Given the description of an element on the screen output the (x, y) to click on. 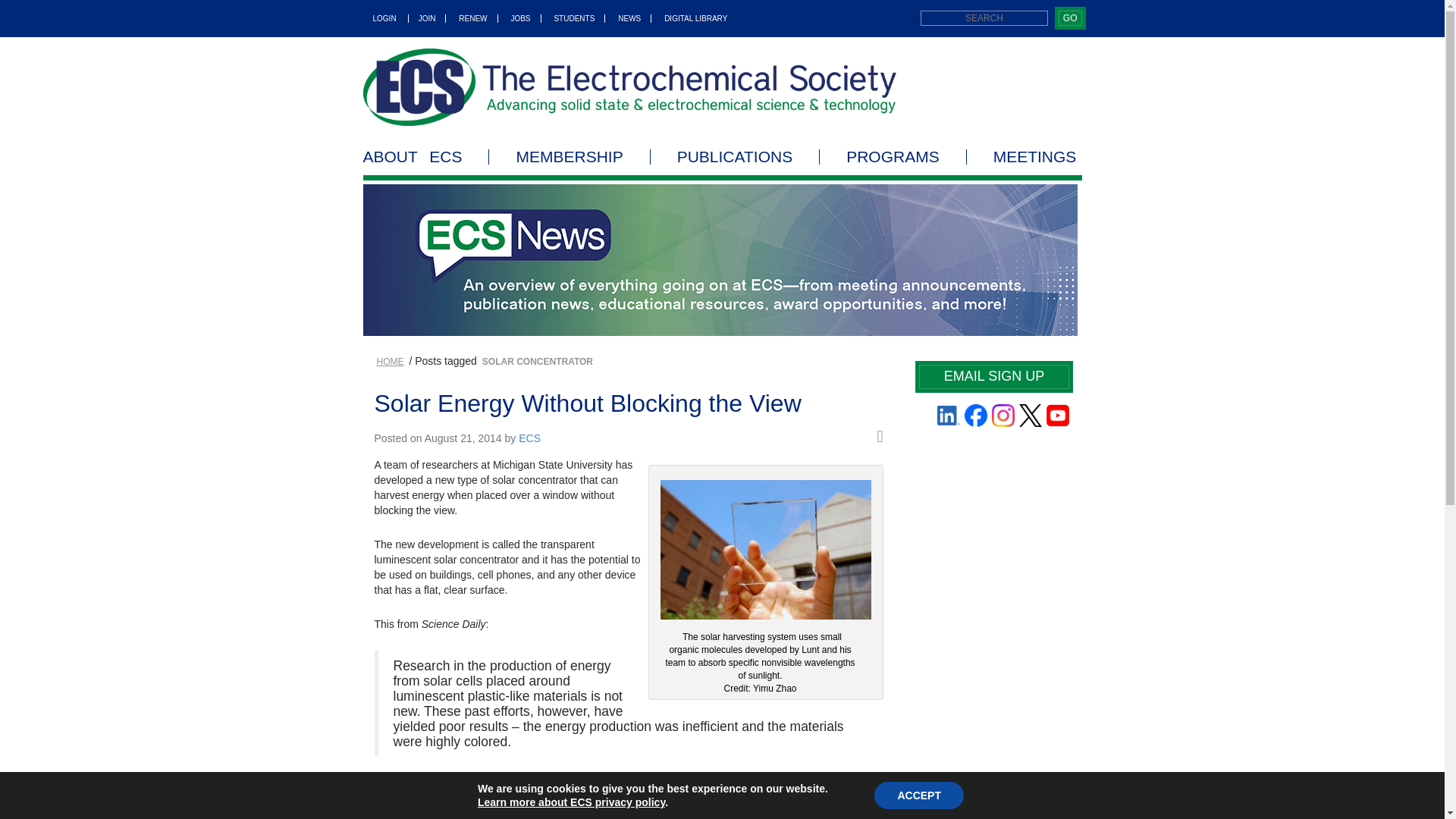
GO (1069, 17)
DIGITAL LIBRARY (689, 18)
NEWS (629, 18)
ECS (629, 87)
By ECS (529, 438)
RENEW (472, 18)
ABOUT ECS (425, 156)
JOBS (520, 18)
MEMBERSHIP (569, 156)
JOIN (427, 18)
LOGIN (384, 18)
STUDENTS (574, 18)
